Given the description of an element on the screen output the (x, y) to click on. 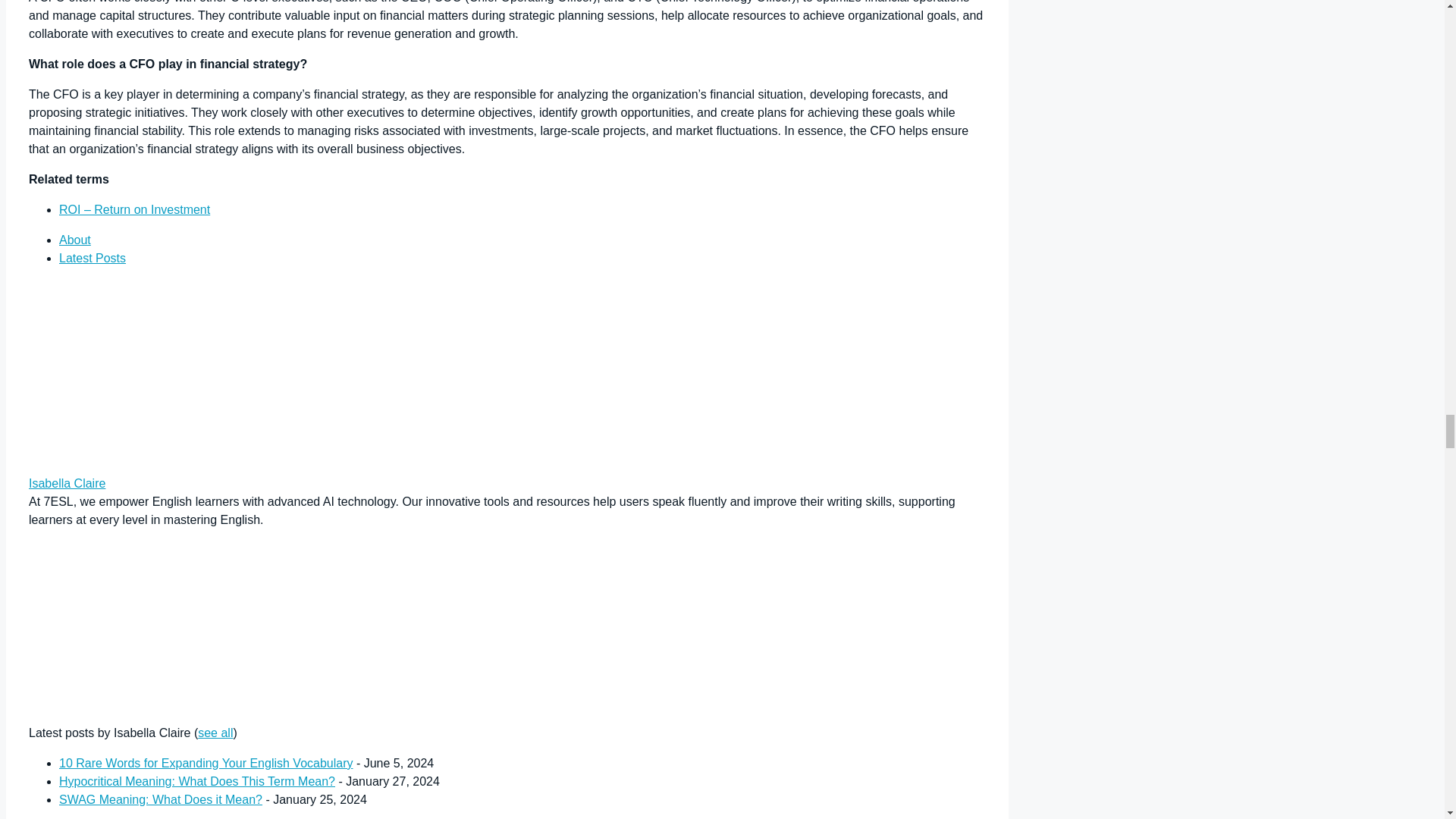
Isabella Claire (123, 464)
SWAG Meaning: What Does it Mean? (160, 799)
Isabella Claire (66, 482)
see all (215, 732)
Isabella Claire (123, 714)
Latest Posts (92, 257)
Hypocritical Meaning: What Does This Term Mean? (196, 780)
About (74, 239)
10 Rare Words for Expanding Your English Vocabulary (206, 762)
